Given the description of an element on the screen output the (x, y) to click on. 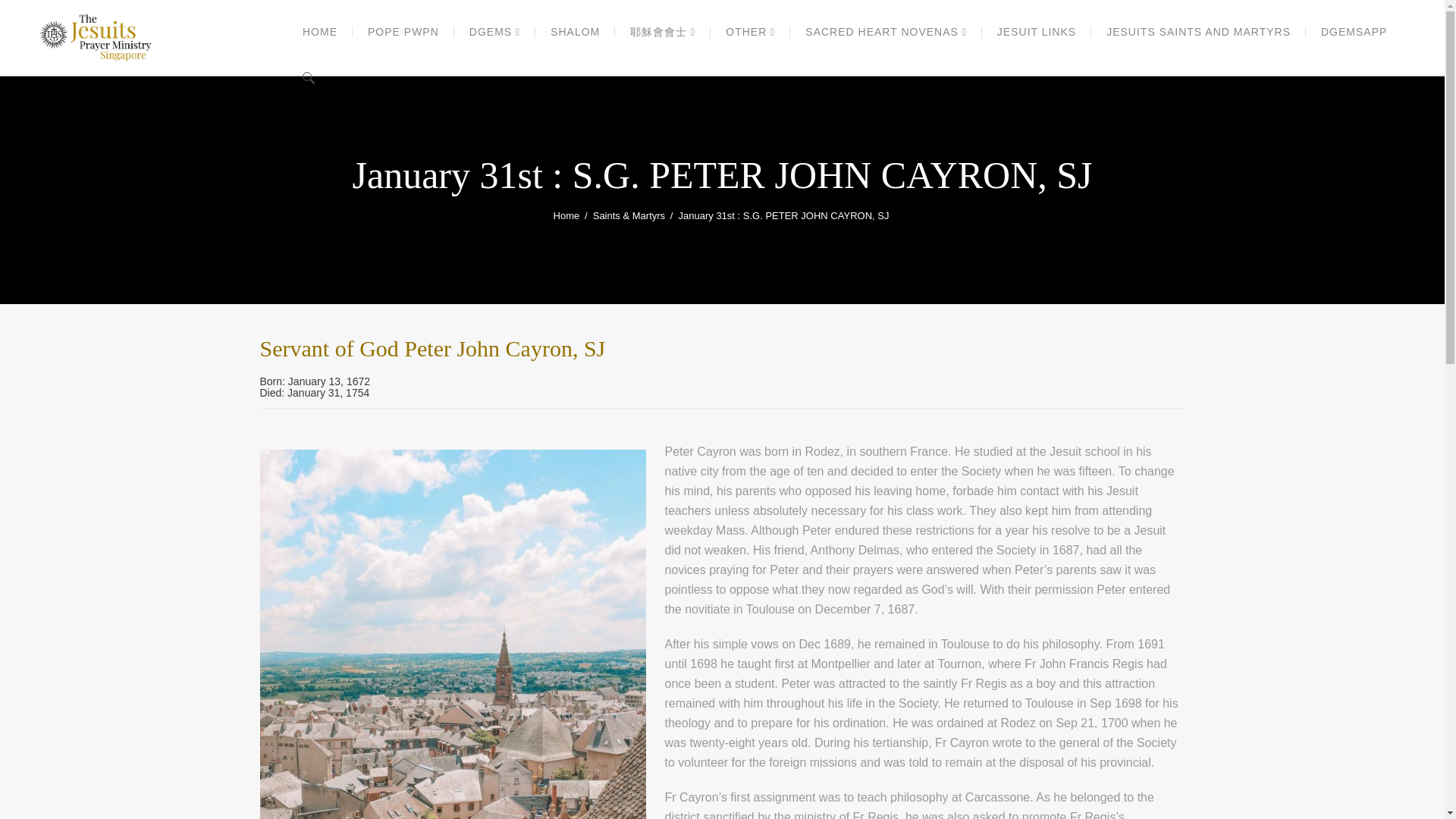
HOME (320, 31)
POPE PWPN (402, 31)
DGEMSAPP (1353, 31)
Search (1177, 43)
DGEMS (494, 32)
JESUIT LINKS (1036, 31)
Home (566, 216)
SACRED HEART NOVENAS (885, 32)
SHALOM (575, 31)
JESUITS SAINTS AND MARTYRS (1198, 31)
OTHER (750, 32)
